Given the description of an element on the screen output the (x, y) to click on. 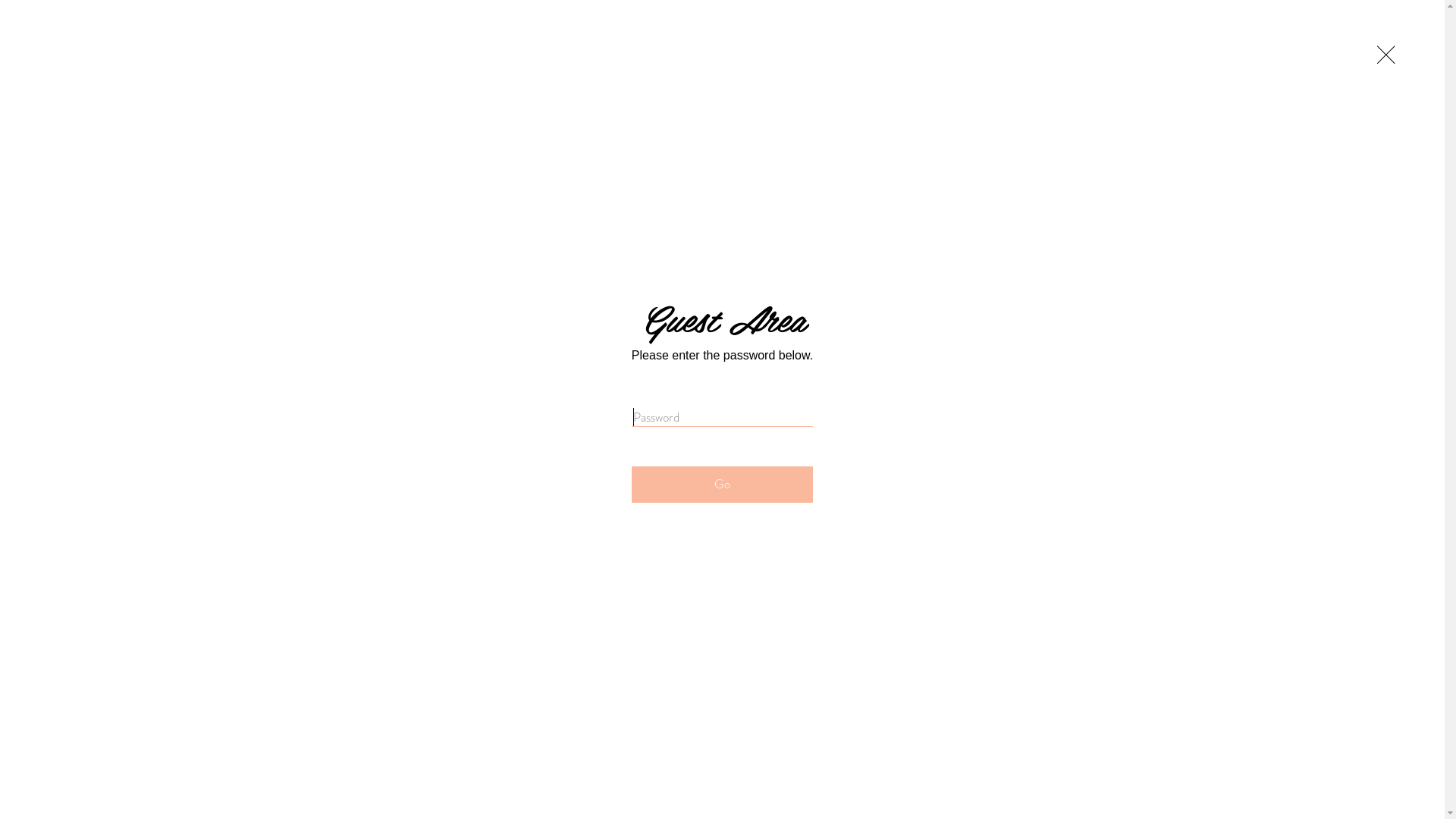
Go Element type: text (721, 484)
